Given the description of an element on the screen output the (x, y) to click on. 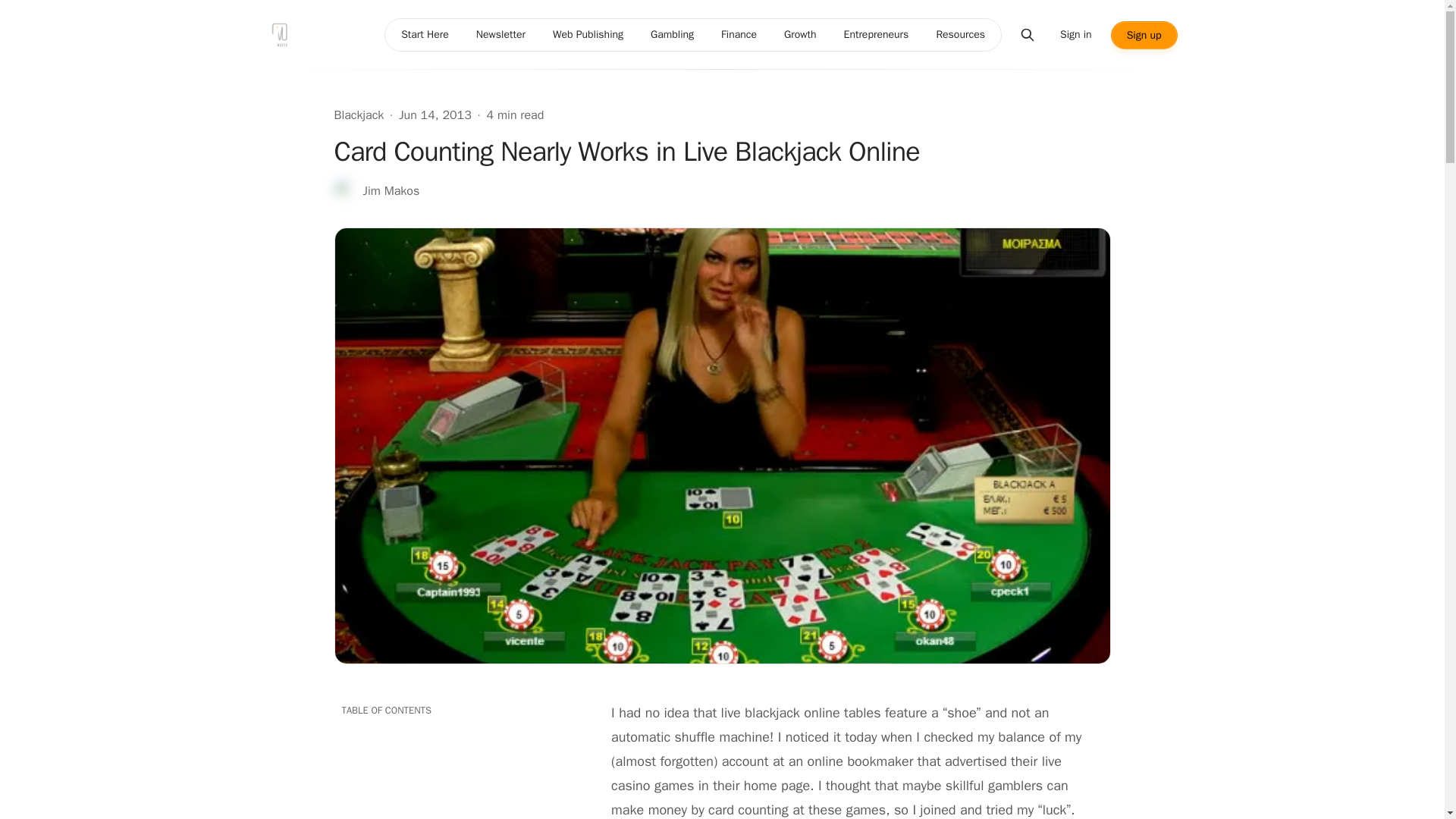
Start Here (424, 34)
Search (1027, 34)
Finance (738, 34)
Sign in (1075, 34)
Sign up (1143, 35)
Blackjack (358, 115)
Jim Makos (376, 191)
Growth (799, 34)
Entrepreneurs (876, 34)
Resources (960, 34)
TABLE OF CONTENTS (454, 710)
Newsletter (500, 34)
Gambling (672, 34)
Web Publishing (587, 34)
